Given the description of an element on the screen output the (x, y) to click on. 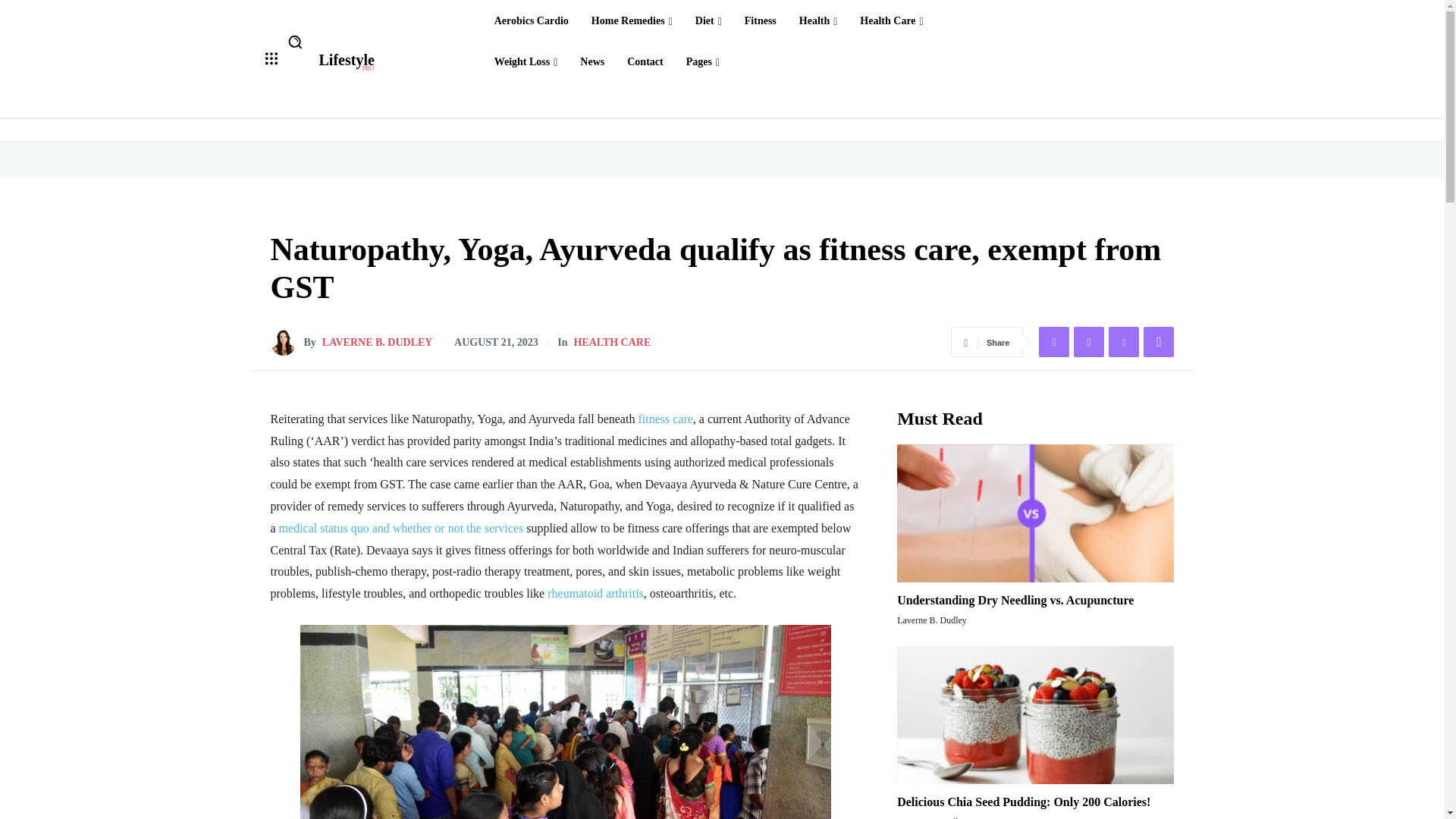
Diet (708, 20)
Health (818, 20)
WhatsApp (1157, 341)
Home Remedies (631, 20)
Twitter (1088, 341)
Aerobics Cardio (531, 20)
Fitness (760, 20)
Facebook (346, 62)
Laverne B. Dudley (1053, 341)
Health Care (285, 342)
Pinterest (890, 20)
